Given the description of an element on the screen output the (x, y) to click on. 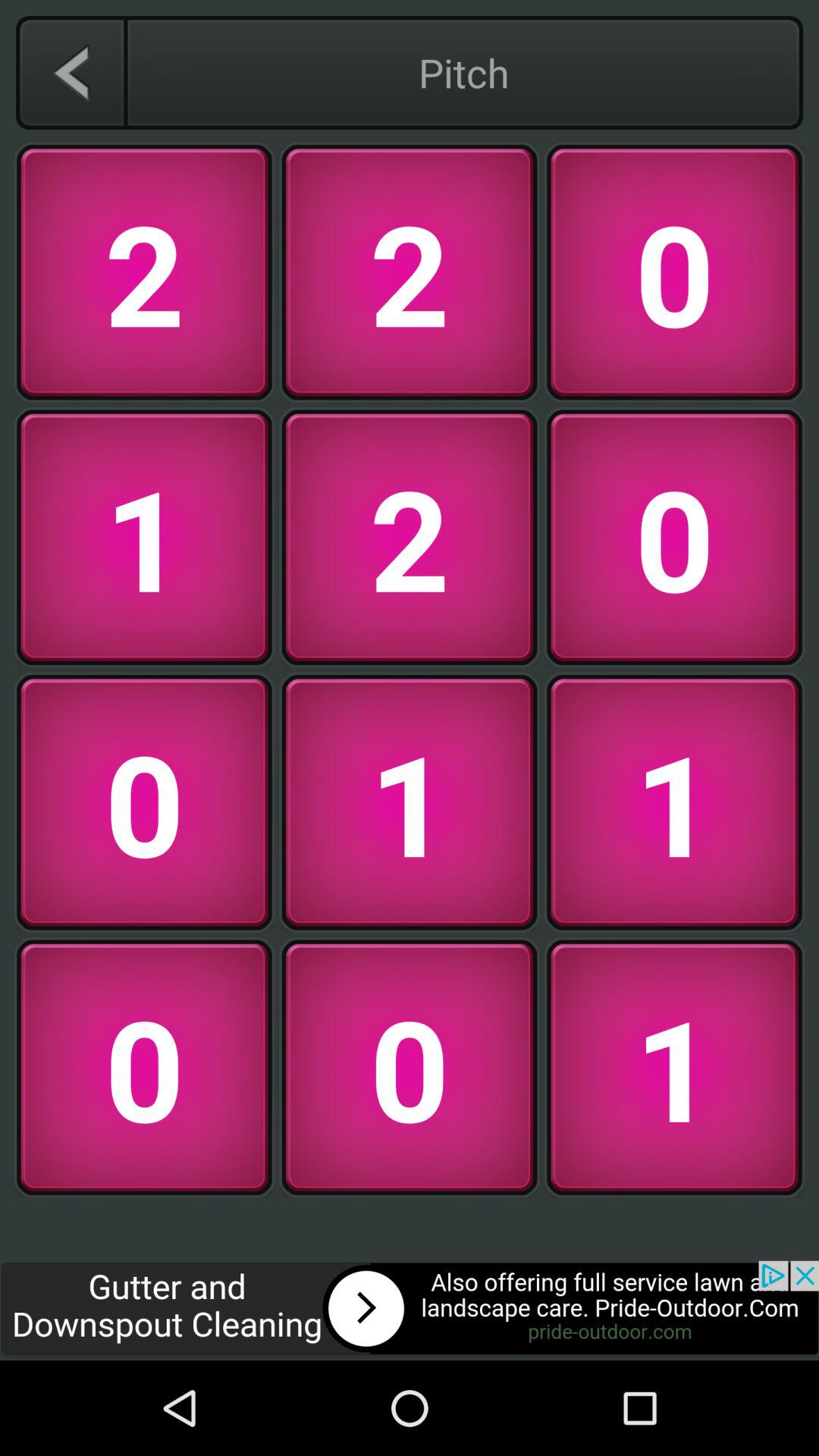
select the icon below 0 (409, 1310)
